Given the description of an element on the screen output the (x, y) to click on. 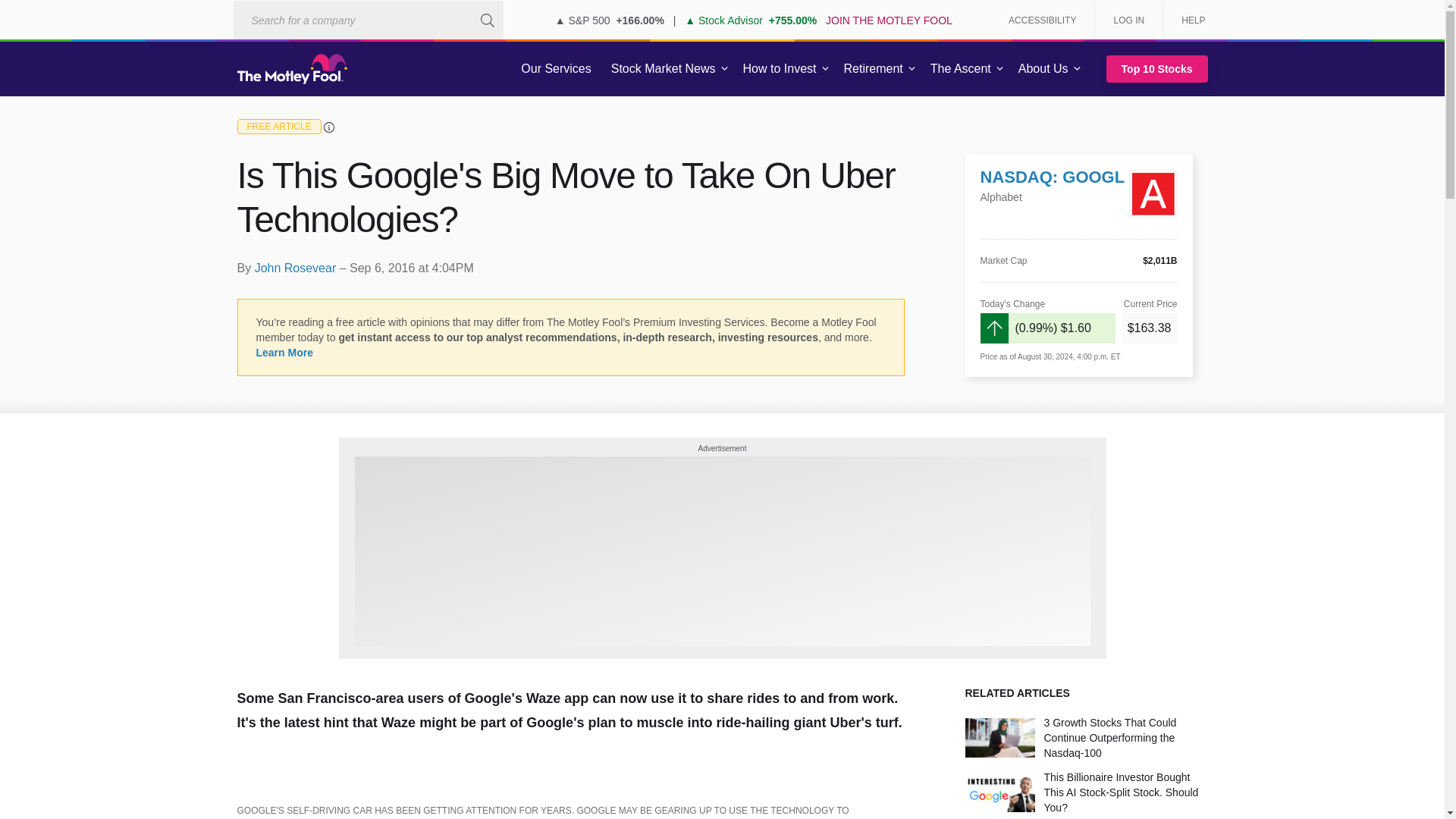
Stock Market News (662, 68)
LOG IN (1128, 19)
HELP (1187, 19)
ACCESSIBILITY (1042, 19)
Our Services (555, 68)
How to Invest (779, 68)
